Given the description of an element on the screen output the (x, y) to click on. 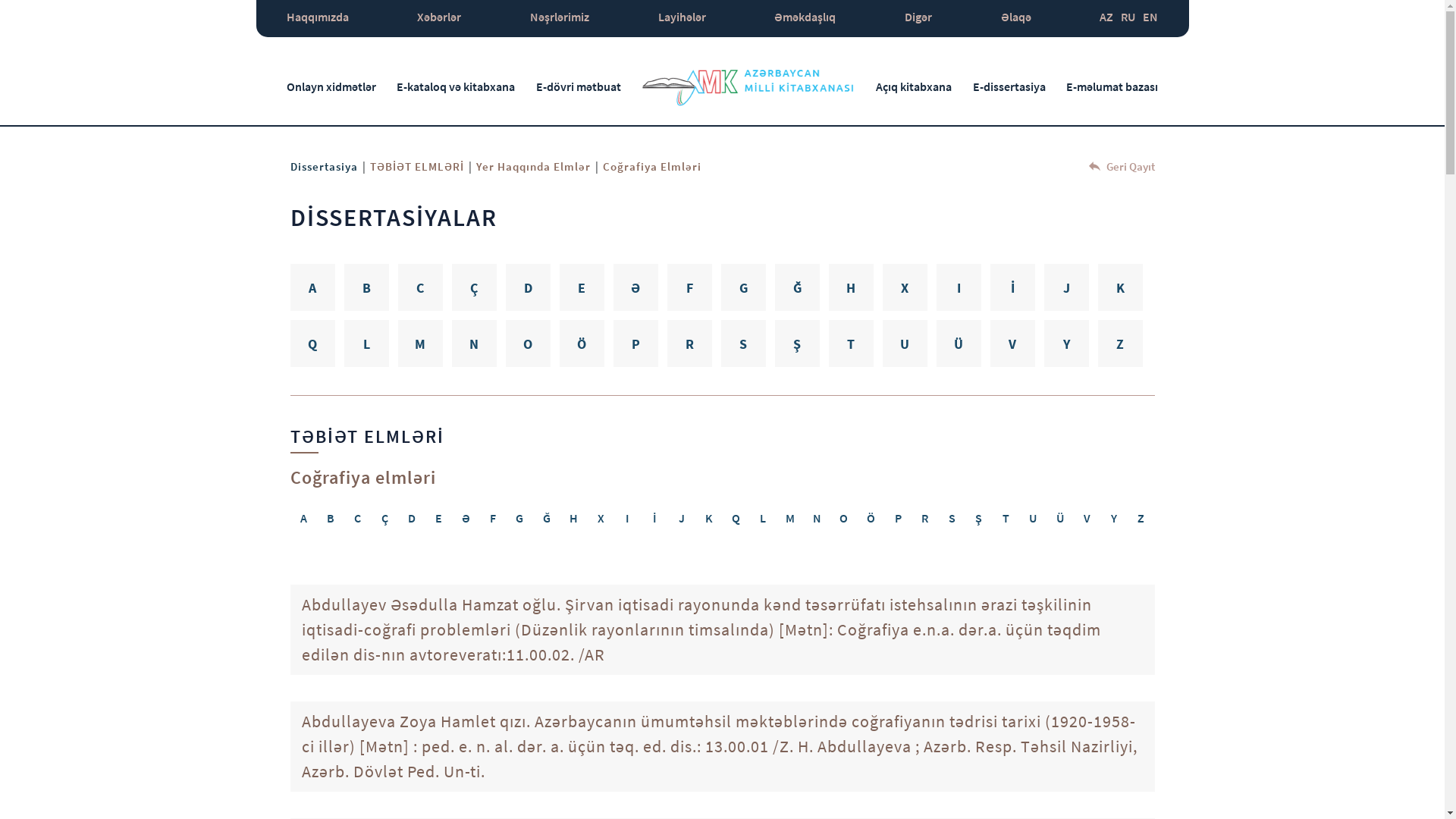
Dissertasiya Element type: text (323, 166)
Z Element type: text (1140, 517)
R Element type: text (689, 343)
S Element type: text (742, 343)
P Element type: text (634, 343)
S Element type: text (952, 517)
EN Element type: text (1149, 18)
F Element type: text (492, 517)
T Element type: text (850, 343)
J Element type: text (1065, 286)
V Element type: text (1087, 517)
G Element type: text (519, 517)
O Element type: text (527, 343)
J Element type: text (681, 517)
H Element type: text (850, 286)
N Element type: text (816, 517)
Q Element type: text (735, 517)
M Element type: text (789, 517)
AZ Element type: text (1106, 18)
Y Element type: text (1065, 343)
A Element type: text (311, 286)
I Element type: text (957, 286)
C Element type: text (419, 286)
M Element type: text (419, 343)
L Element type: text (366, 343)
X Element type: text (600, 517)
O Element type: text (843, 517)
E Element type: text (438, 517)
P Element type: text (897, 517)
K Element type: text (1120, 286)
RU Element type: text (1127, 18)
F Element type: text (689, 286)
K Element type: text (708, 517)
X Element type: text (904, 286)
A Element type: text (302, 517)
V Element type: text (1012, 343)
R Element type: text (924, 517)
Z Element type: text (1120, 343)
H Element type: text (573, 517)
G Element type: text (742, 286)
U Element type: text (1032, 517)
E-dissertasiya Element type: text (1008, 86)
D Element type: text (527, 286)
E Element type: text (581, 286)
L Element type: text (762, 517)
C Element type: text (357, 517)
Q Element type: text (311, 343)
D Element type: text (411, 517)
Y Element type: text (1113, 517)
U Element type: text (904, 343)
I Element type: text (627, 517)
B Element type: text (330, 517)
B Element type: text (366, 286)
T Element type: text (1005, 517)
N Element type: text (473, 343)
